Given the description of an element on the screen output the (x, y) to click on. 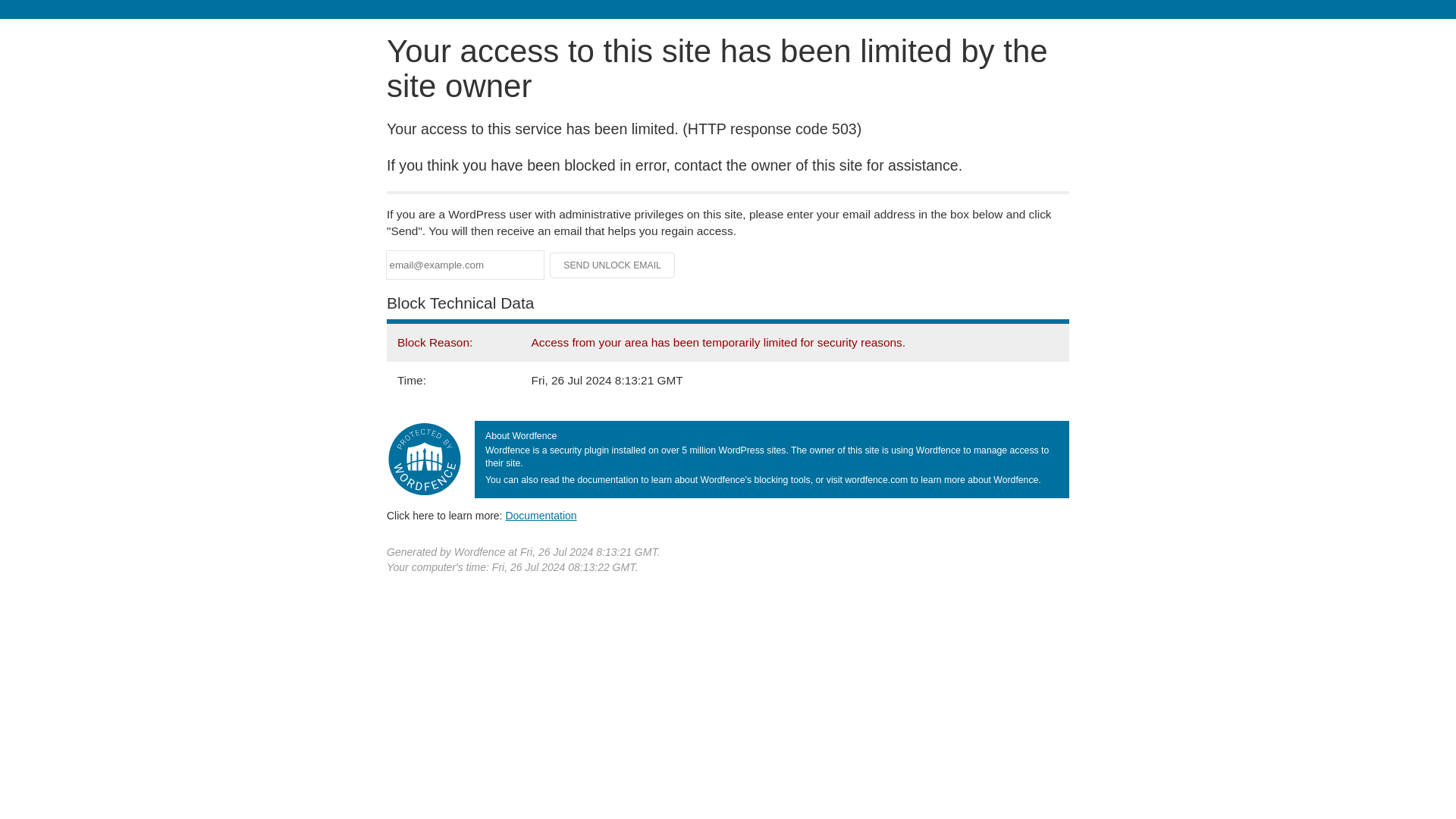
Documentation (540, 515)
Send Unlock Email (612, 265)
Send Unlock Email (612, 265)
